Given the description of an element on the screen output the (x, y) to click on. 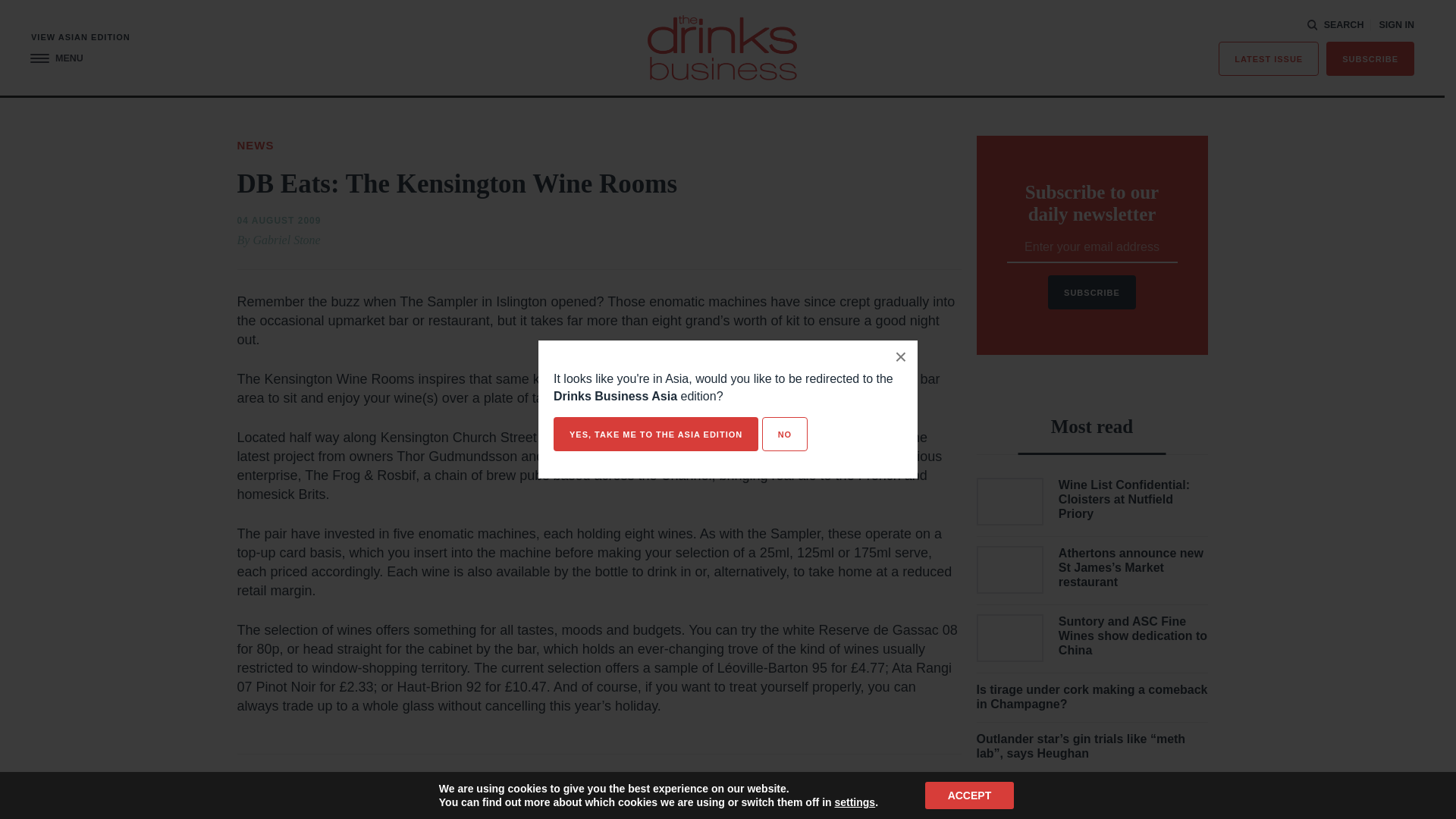
SIGN IN (1395, 25)
The Drinks Business (721, 47)
SUBSCRIBE (1369, 58)
YES, TAKE ME TO THE ASIA EDITION (655, 433)
NO (784, 433)
VIEW ASIAN EDITION (80, 37)
LATEST ISSUE (1268, 58)
